Given the description of an element on the screen output the (x, y) to click on. 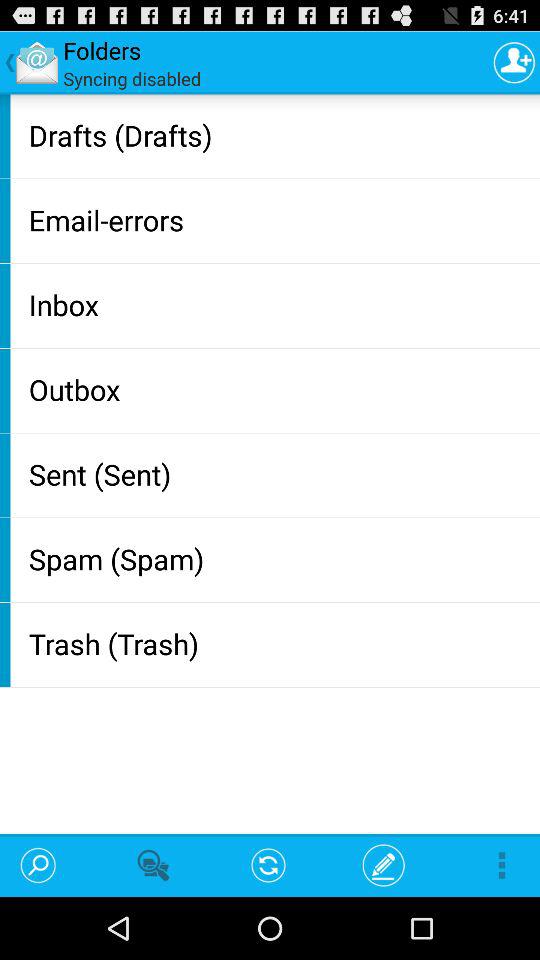
add profile (514, 62)
